Given the description of an element on the screen output the (x, y) to click on. 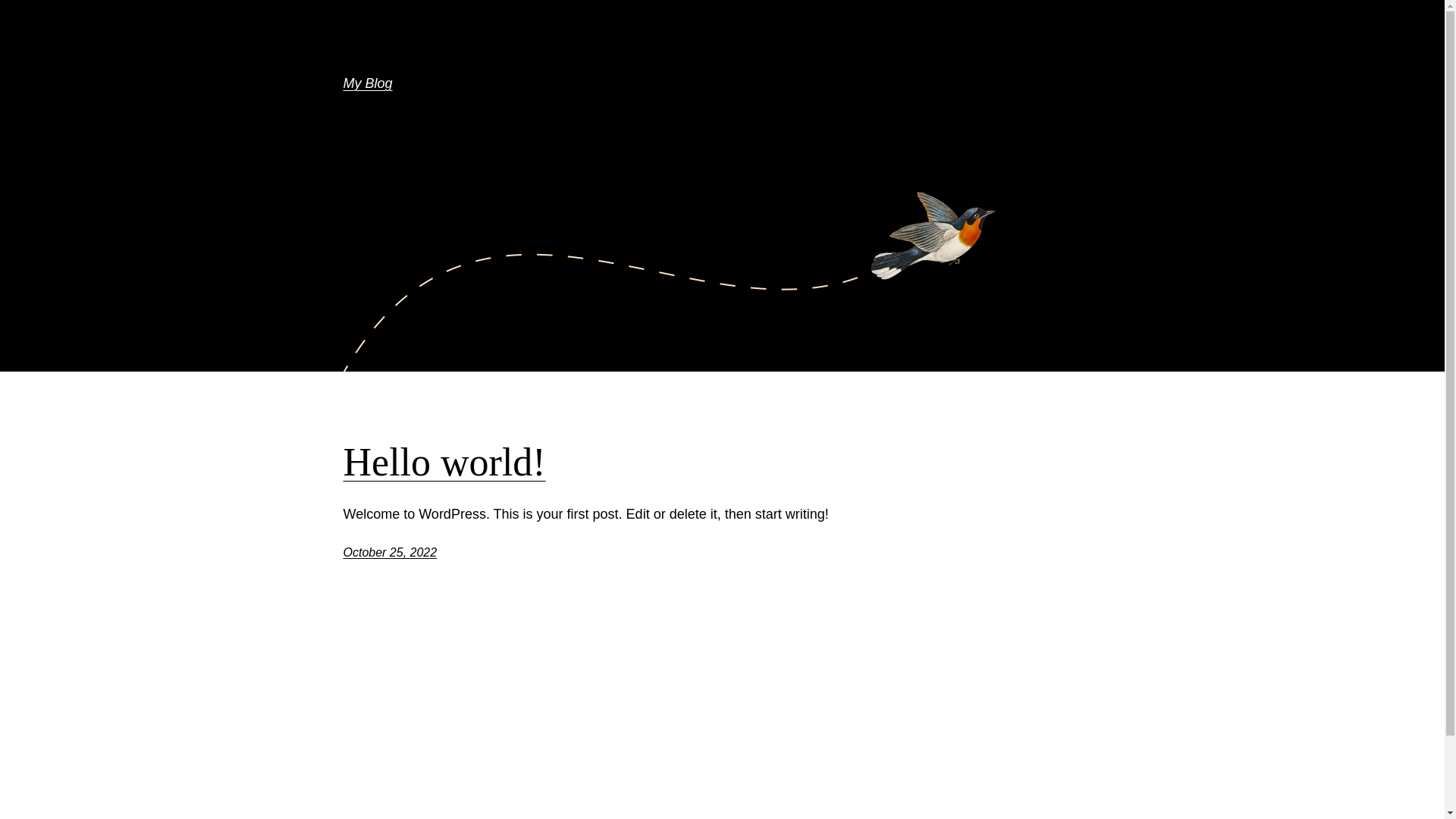
Hello world! Element type: text (443, 462)
October 25, 2022 Element type: text (389, 552)
My Blog Element type: text (367, 83)
